Given the description of an element on the screen output the (x, y) to click on. 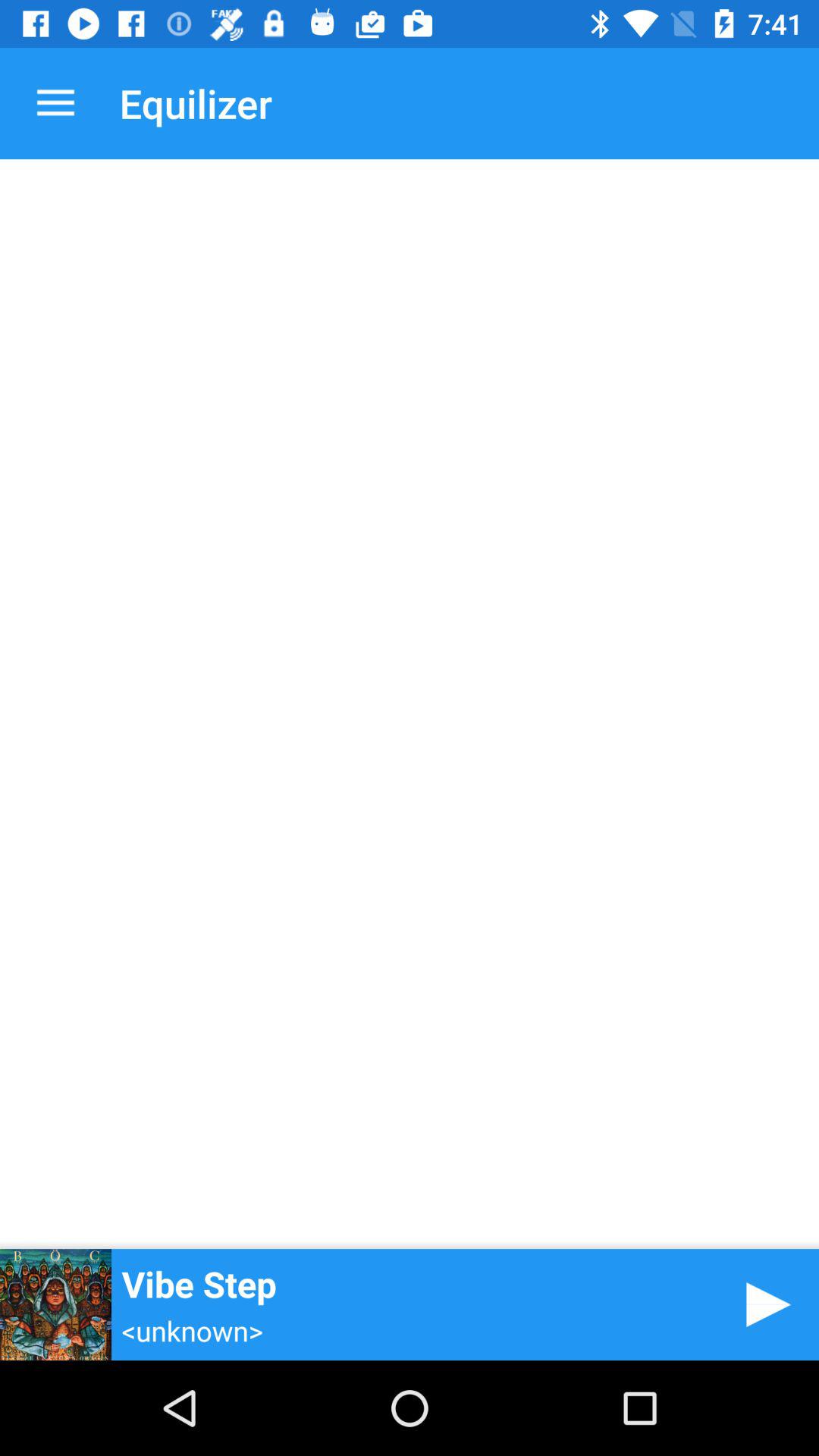
tap the item next to equilizer icon (55, 103)
